Given the description of an element on the screen output the (x, y) to click on. 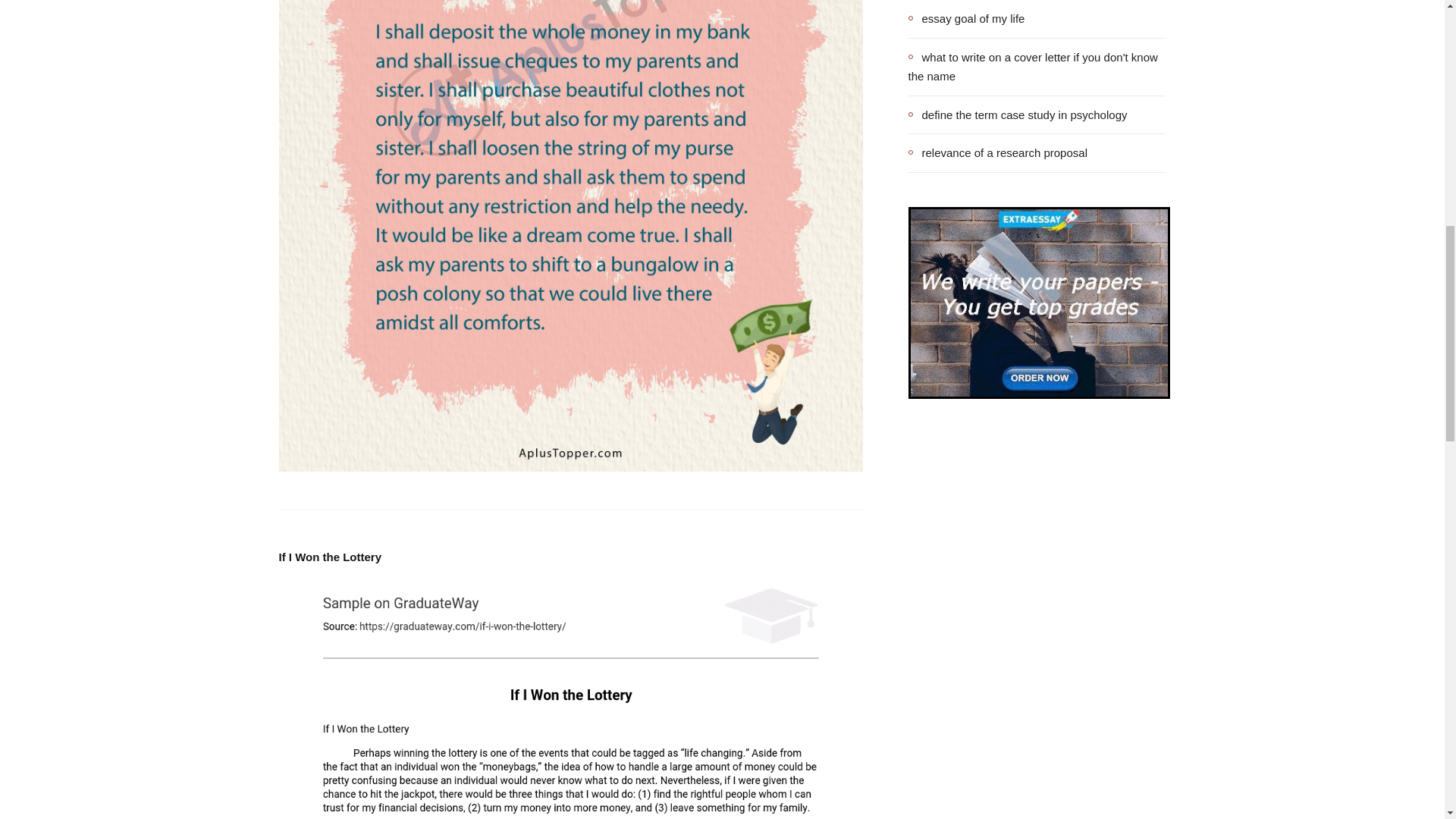
relevance of a research proposal (997, 152)
what to write on a cover letter if you don't know the name (1037, 65)
define the term case study in psychology (1017, 114)
essay goal of my life (966, 18)
